Given the description of an element on the screen output the (x, y) to click on. 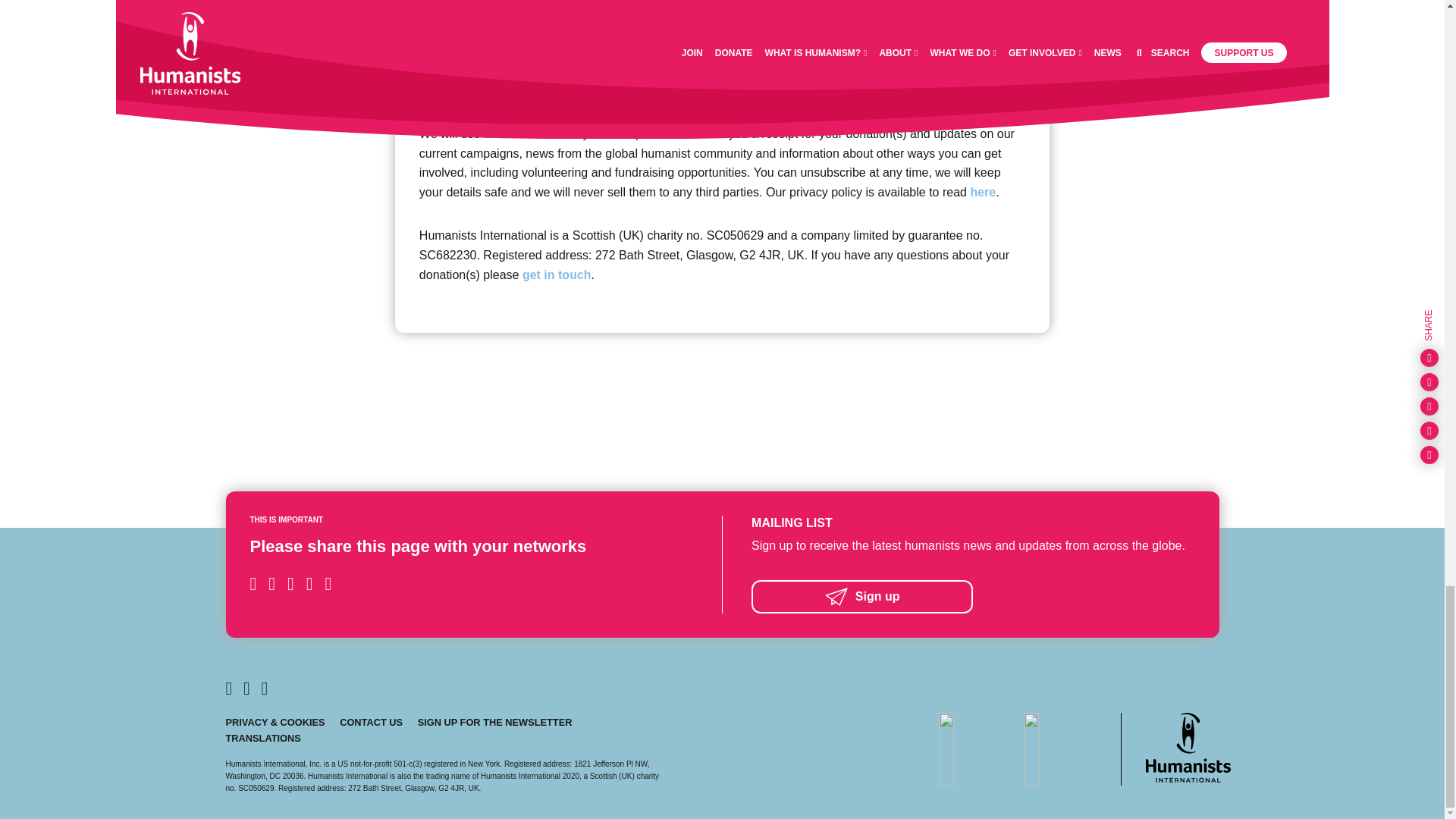
Guidestar US (1059, 748)
Humanists Logo (1187, 747)
Sign up (972, 596)
Scottish Charity Regulator (975, 748)
